Given the description of an element on the screen output the (x, y) to click on. 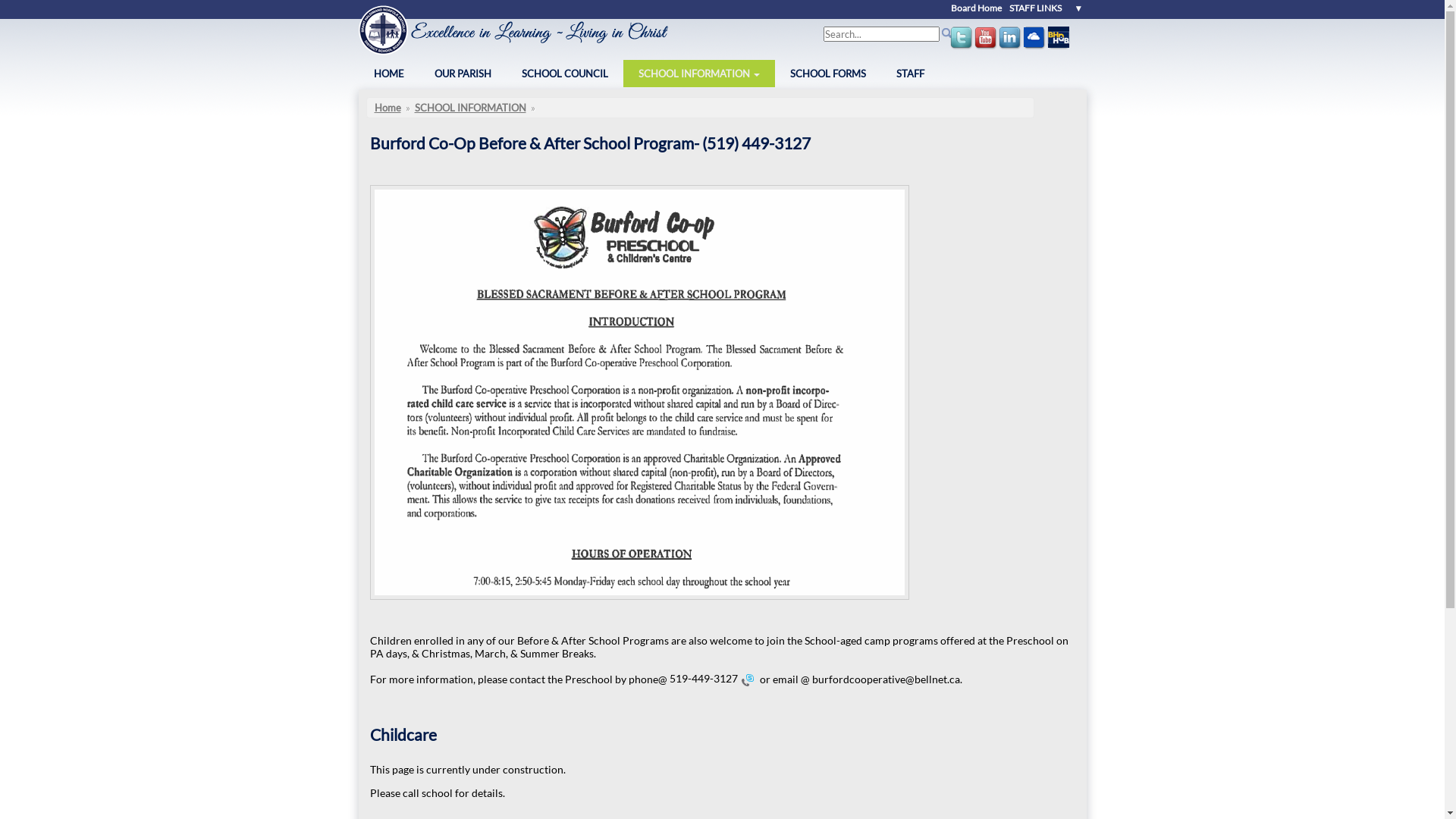
Find Blessed Sacrament School on Twitter Element type: hover (961, 46)
Find Blessed Sacrament School on Delicious Element type: hover (1034, 46)
Burford Co-Op Before & After School Program- (519) 449-3127 Element type: text (590, 142)
Skip to main content Element type: text (48, 0)
Board Home Element type: text (975, 7)
OUR PARISH Element type: text (461, 73)
Find Blessed Sacrament School on FriendFeed Element type: hover (1058, 38)
Find Blessed Sacrament School on Delicious Element type: hover (1034, 38)
SCHOOL FORMS Element type: text (828, 73)
Enter the terms you wish to search for. Element type: hover (881, 33)
Call: 519-449-3127 Element type: hover (746, 680)
STAFF Element type: text (910, 73)
Find Blessed Sacrament School on FriendFeed Element type: hover (1058, 46)
HOME Element type: text (387, 73)
Childcare Element type: text (403, 733)
Go Element type: text (17, 13)
Find Blessed Sacrament School on LinkedIn Element type: hover (1009, 38)
SCHOOL INFORMATION Element type: text (469, 107)
Find Blessed Sacrament School on Twitter Element type: hover (961, 38)
Find Blessed Sacrament School on LinkedIn Element type: hover (1009, 46)
SCHOOL INFORMATION Element type: text (699, 73)
Find Blessed Sacrament School on YouTube Element type: hover (985, 38)
SCHOOL COUNCIL Element type: text (564, 73)
Find Blessed Sacrament School on YouTube Element type: hover (985, 46)
Home Element type: text (387, 107)
Call: 519-449-3127 Element type: hover (746, 677)
